Given the description of an element on the screen output the (x, y) to click on. 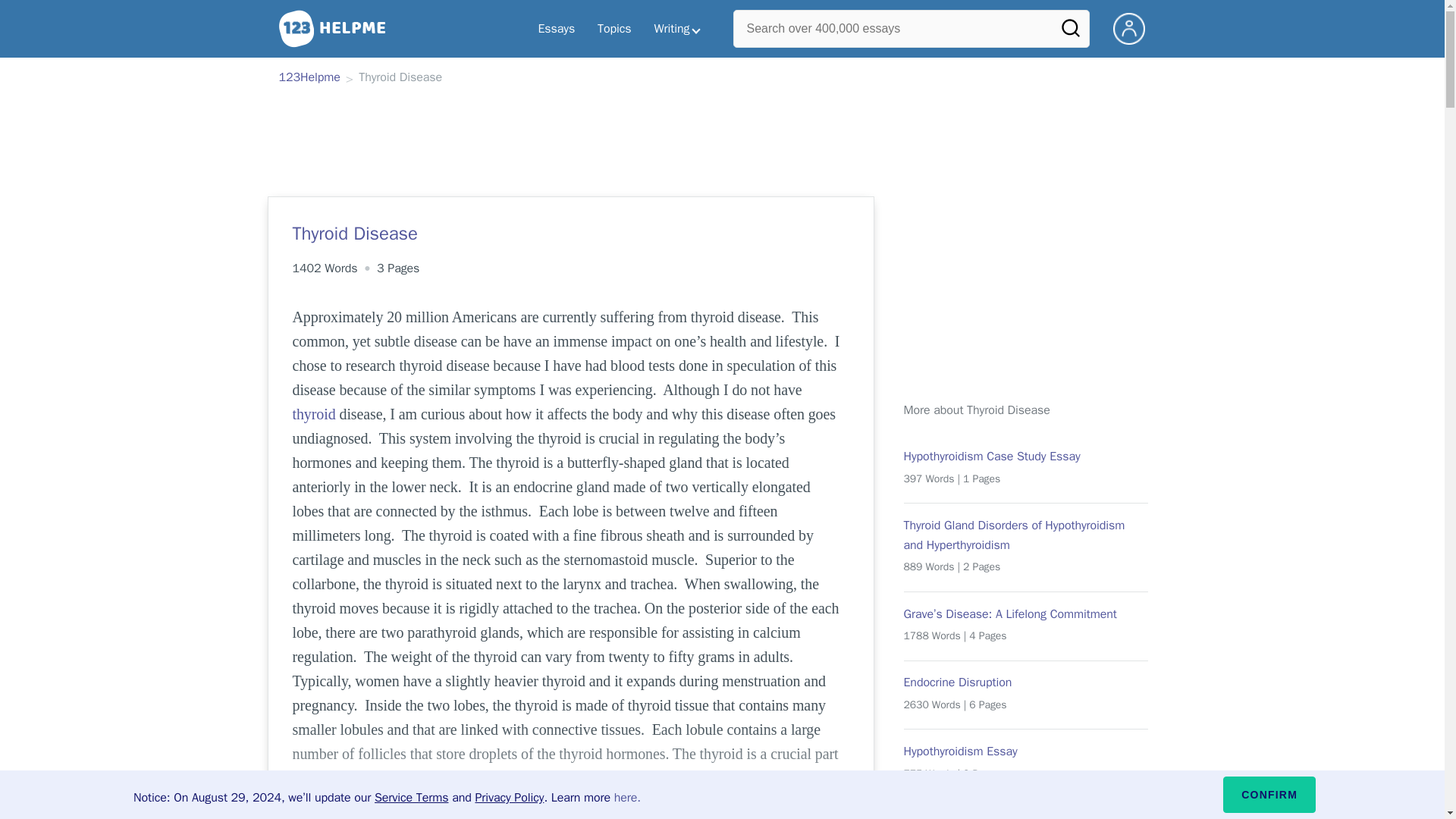
123Helpme (309, 78)
thyroid (314, 413)
Topics (614, 28)
Writing (677, 28)
Show More (570, 788)
Essays (555, 28)
